Given the description of an element on the screen output the (x, y) to click on. 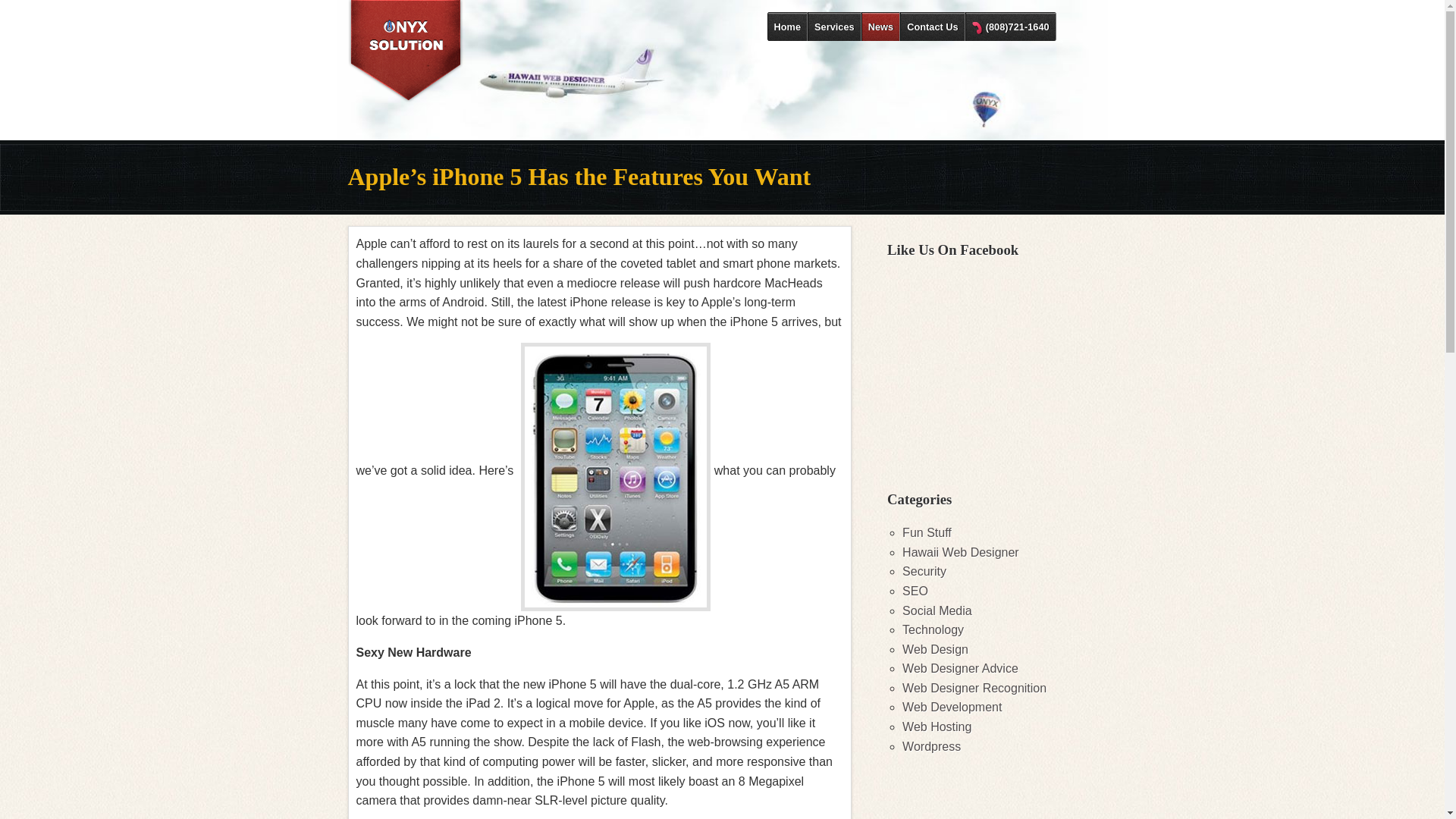
News (880, 26)
Web Development (951, 707)
Hawaii Web Designer (960, 552)
Services (833, 26)
Fun Stuff (927, 532)
Web Designer Advice (959, 667)
Technology (932, 629)
Web Designer Recognition (974, 687)
SEO (915, 590)
Security (924, 571)
Web Design (935, 649)
Home (786, 26)
Wordpress (931, 746)
Web Hosting (936, 726)
Social Media (937, 609)
